Given the description of an element on the screen output the (x, y) to click on. 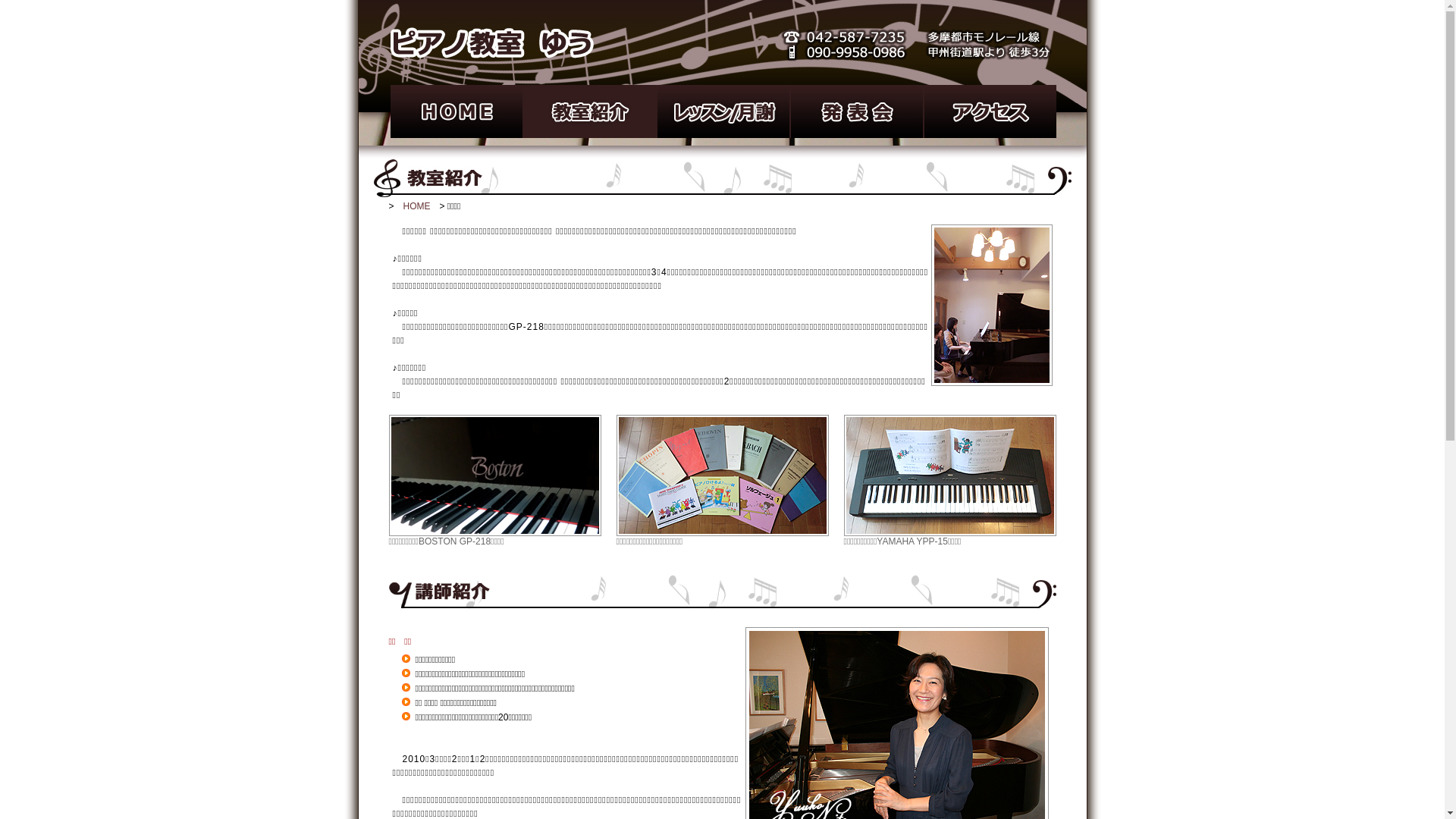
HOME Element type: text (416, 205)
